Given the description of an element on the screen output the (x, y) to click on. 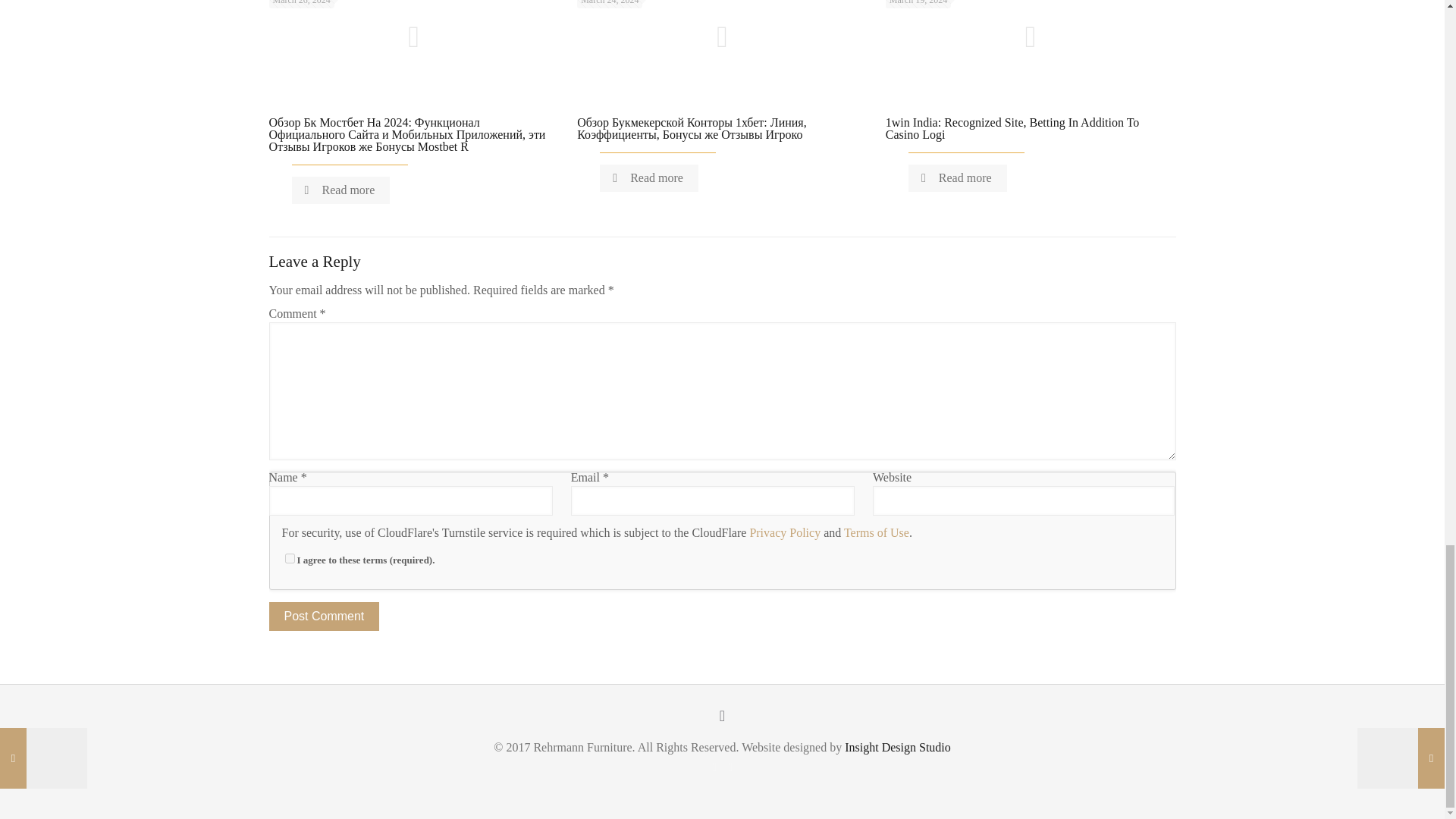
on (290, 558)
Read more (957, 177)
Insight Design Studio (897, 747)
Terms of Use (876, 532)
Post Comment (322, 615)
Post Comment (322, 615)
Read more (648, 177)
Facebook (713, 767)
Read more (340, 189)
Find us on google maps (730, 767)
Privacy Policy (785, 532)
